Given the description of an element on the screen output the (x, y) to click on. 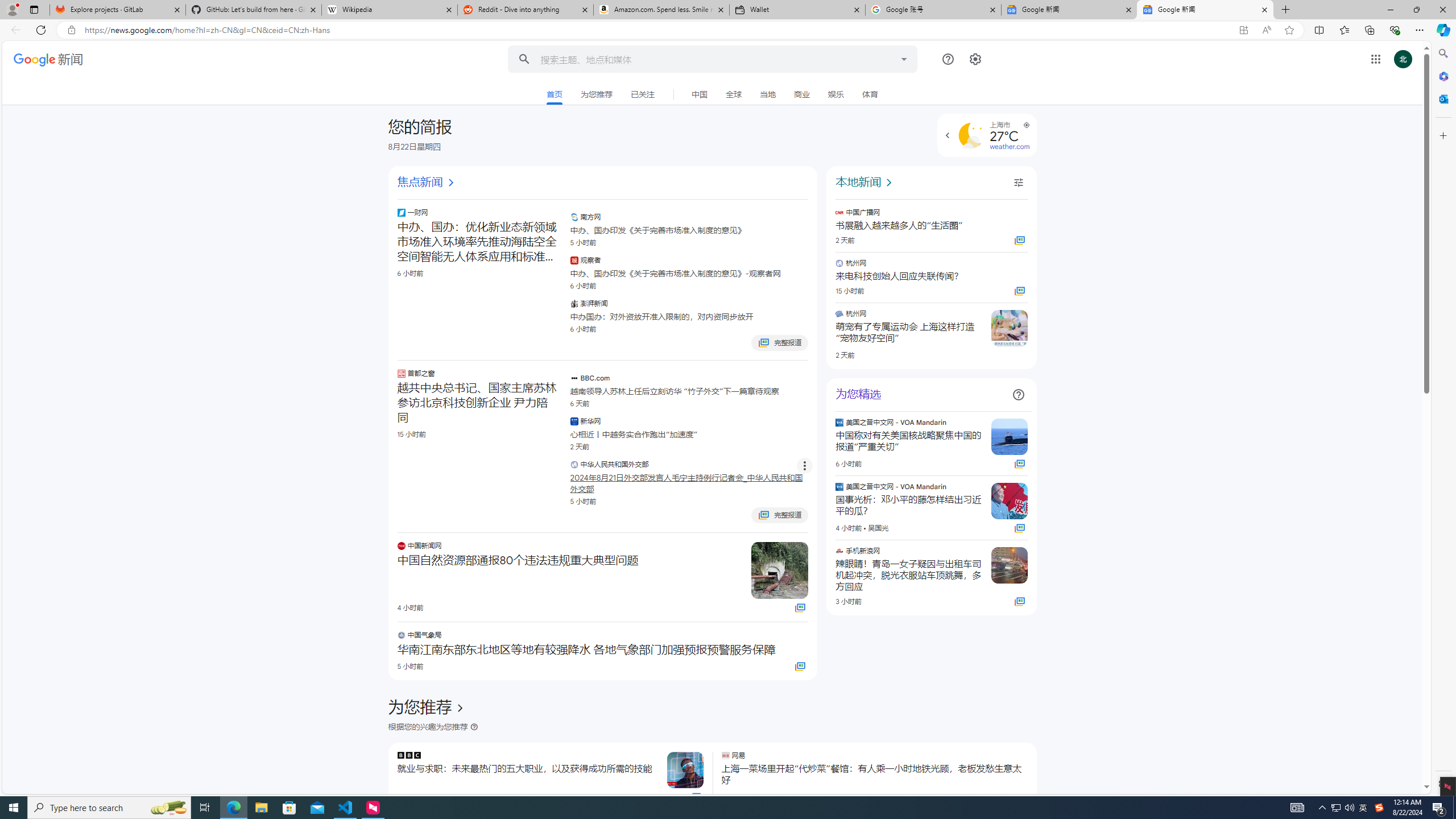
AutomationID: i10 (450, 182)
Class: zRMMZb NMm5M (1025, 125)
Class: isawzf NMm5M (1018, 182)
